Given the description of an element on the screen output the (x, y) to click on. 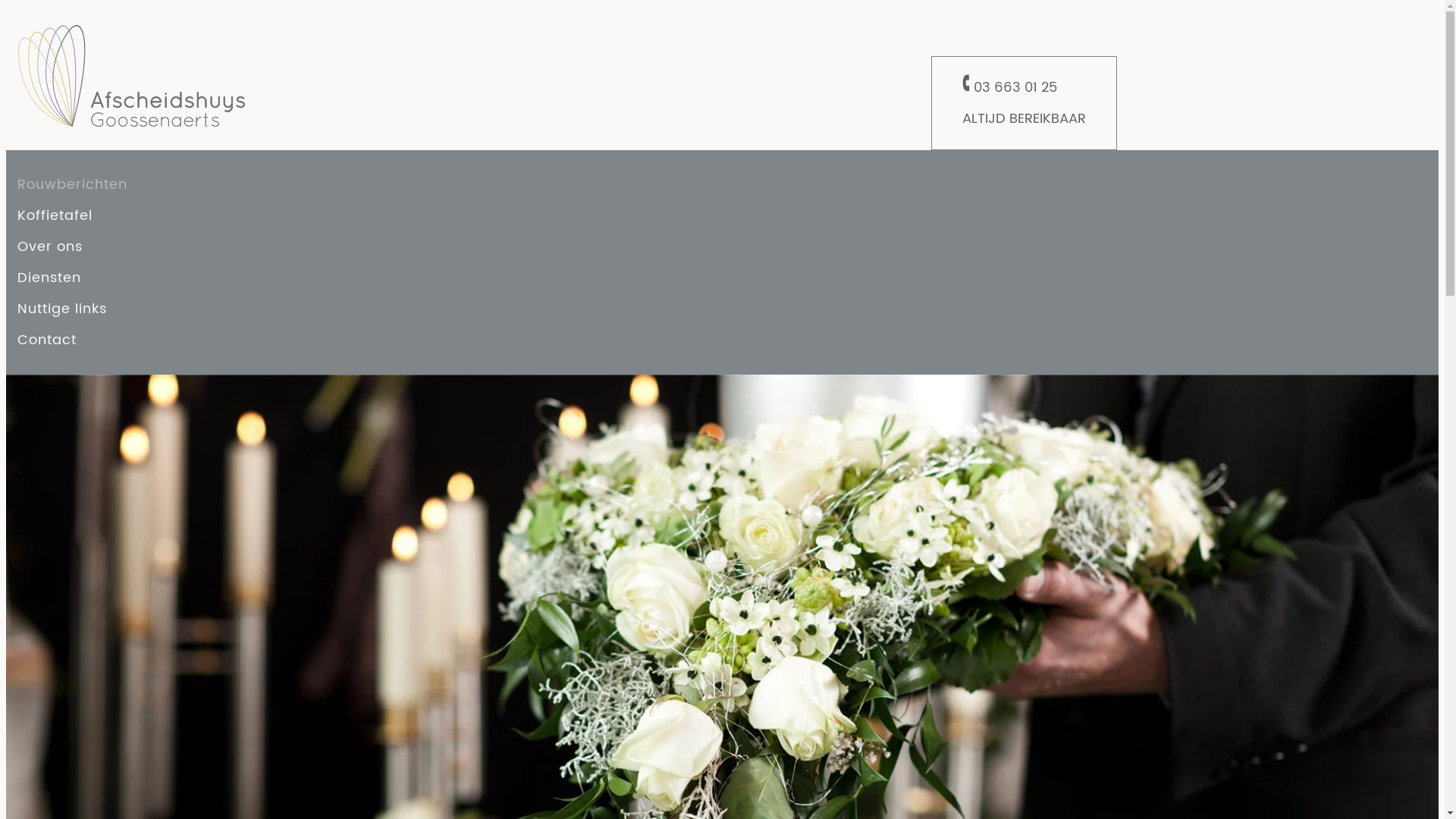
Contact Element type: text (46, 340)
03 663 01 25
ALTIJD BEREIKBAAR Element type: text (1023, 102)
telefoon Afscheidshuys Element type: hover (965, 82)
Nuttige links Element type: text (61, 309)
Over ons Element type: text (49, 246)
Logo Afscheidshuys Element type: hover (130, 76)
Rouwberichten Element type: text (72, 184)
Diensten Element type: text (49, 277)
Koffietafel Element type: text (54, 215)
